Given the description of an element on the screen output the (x, y) to click on. 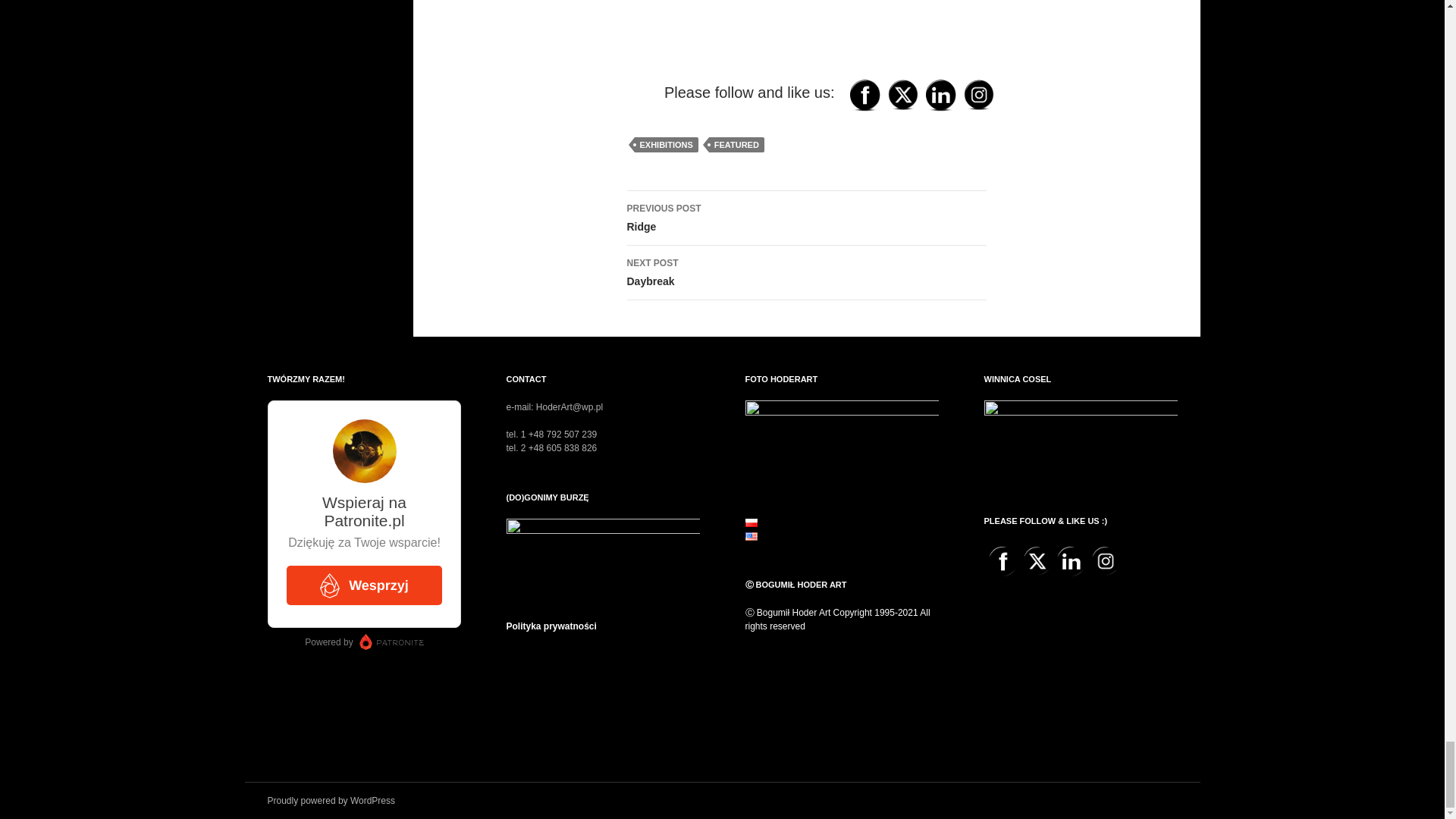
Twitter (901, 94)
Twitter (1037, 561)
Facebook (1002, 561)
LinkedIn (939, 94)
Instagram (977, 94)
Facebook (863, 94)
